Given the description of an element on the screen output the (x, y) to click on. 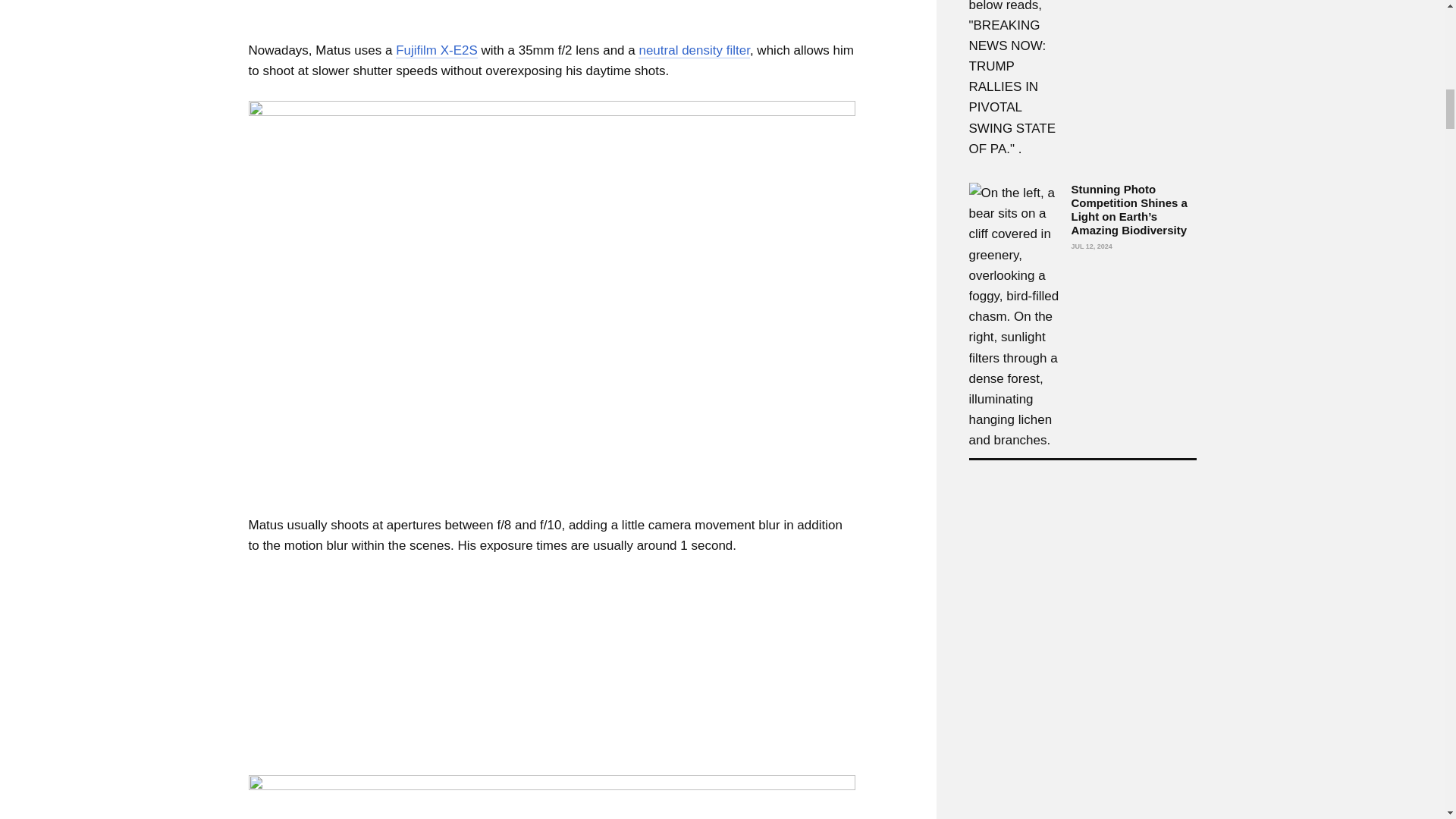
Fujifilm X-E2S (436, 50)
neutral density filter (694, 50)
